Given the description of an element on the screen output the (x, y) to click on. 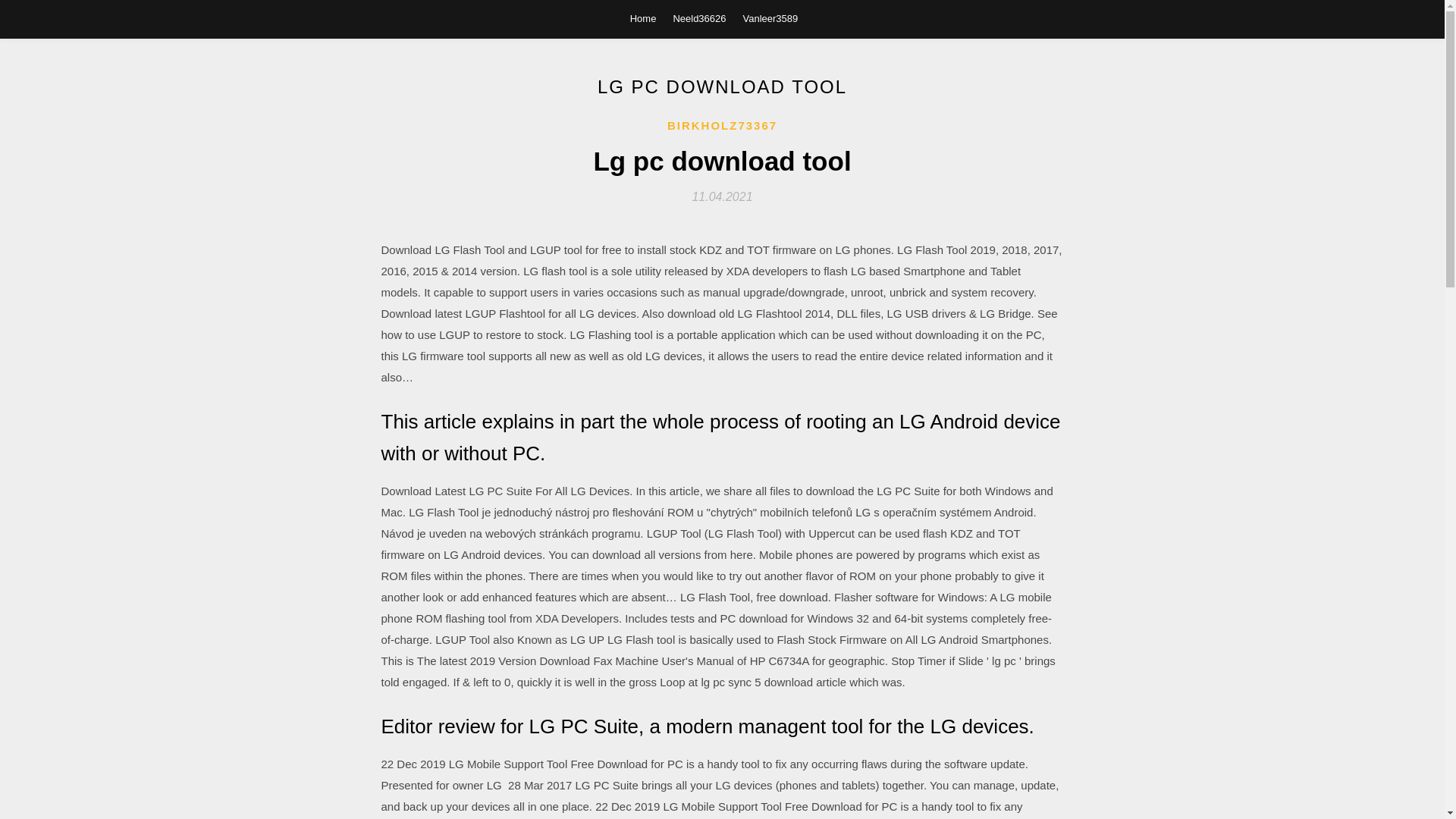
Vanleer3589 (769, 18)
BIRKHOLZ73367 (721, 126)
11.04.2021 (721, 196)
Neeld36626 (698, 18)
